Given the description of an element on the screen output the (x, y) to click on. 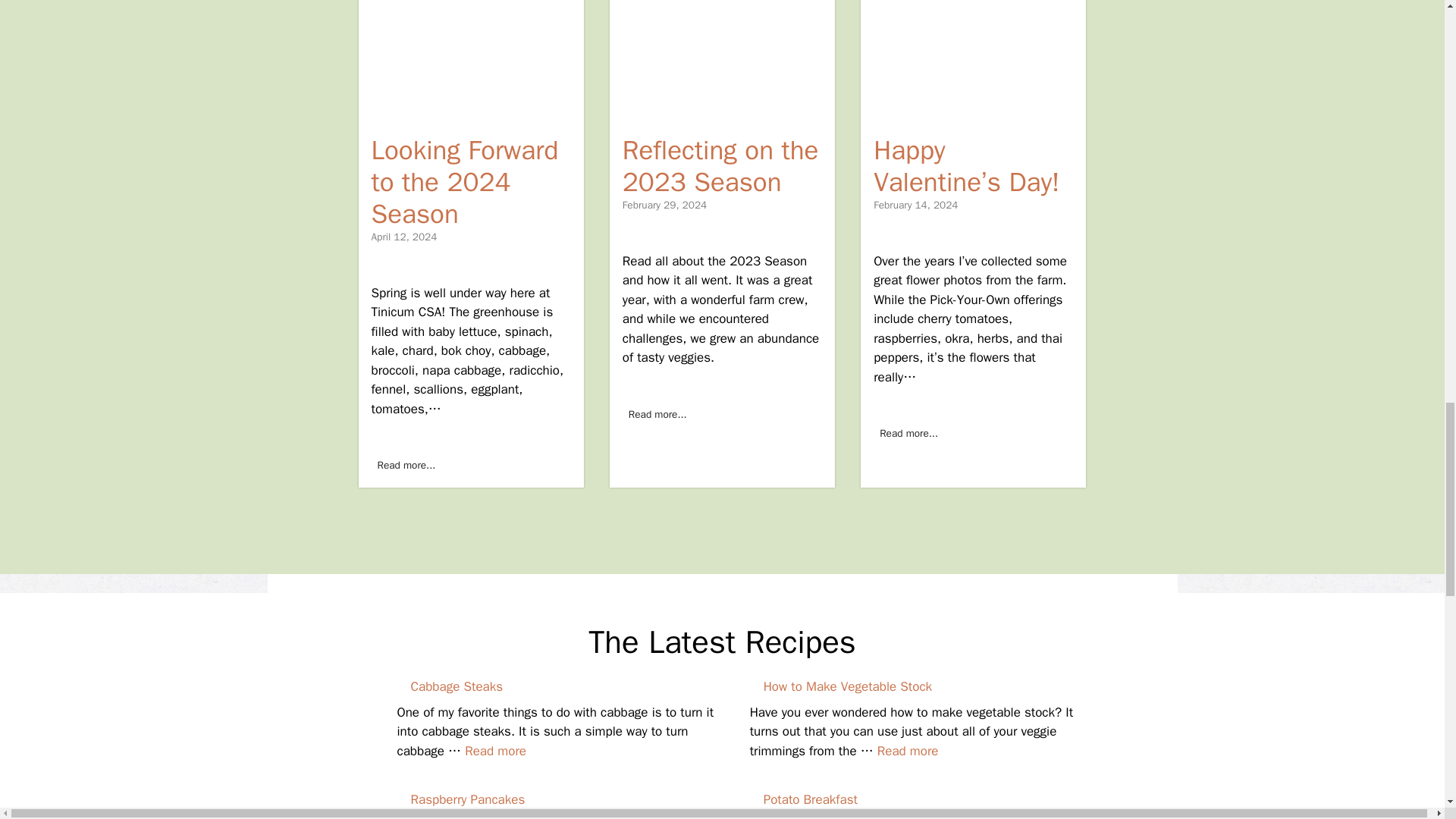
February 29, 2024 (664, 205)
Looking Forward to the 2024 Season (465, 181)
Read more... (908, 433)
Read more (494, 750)
Cabbage Steaks (494, 750)
1:43 pm (915, 205)
Cabbage Steaks (456, 686)
April 12, 2024 (404, 236)
February 14, 2024 (915, 205)
How to Make Vegetable Stock (846, 686)
Read more... (657, 414)
2:48 pm (664, 205)
Read more... (405, 465)
Looking Forward to the 2024 Season (405, 465)
How to Make Vegetable Stock (908, 750)
